Given the description of an element on the screen output the (x, y) to click on. 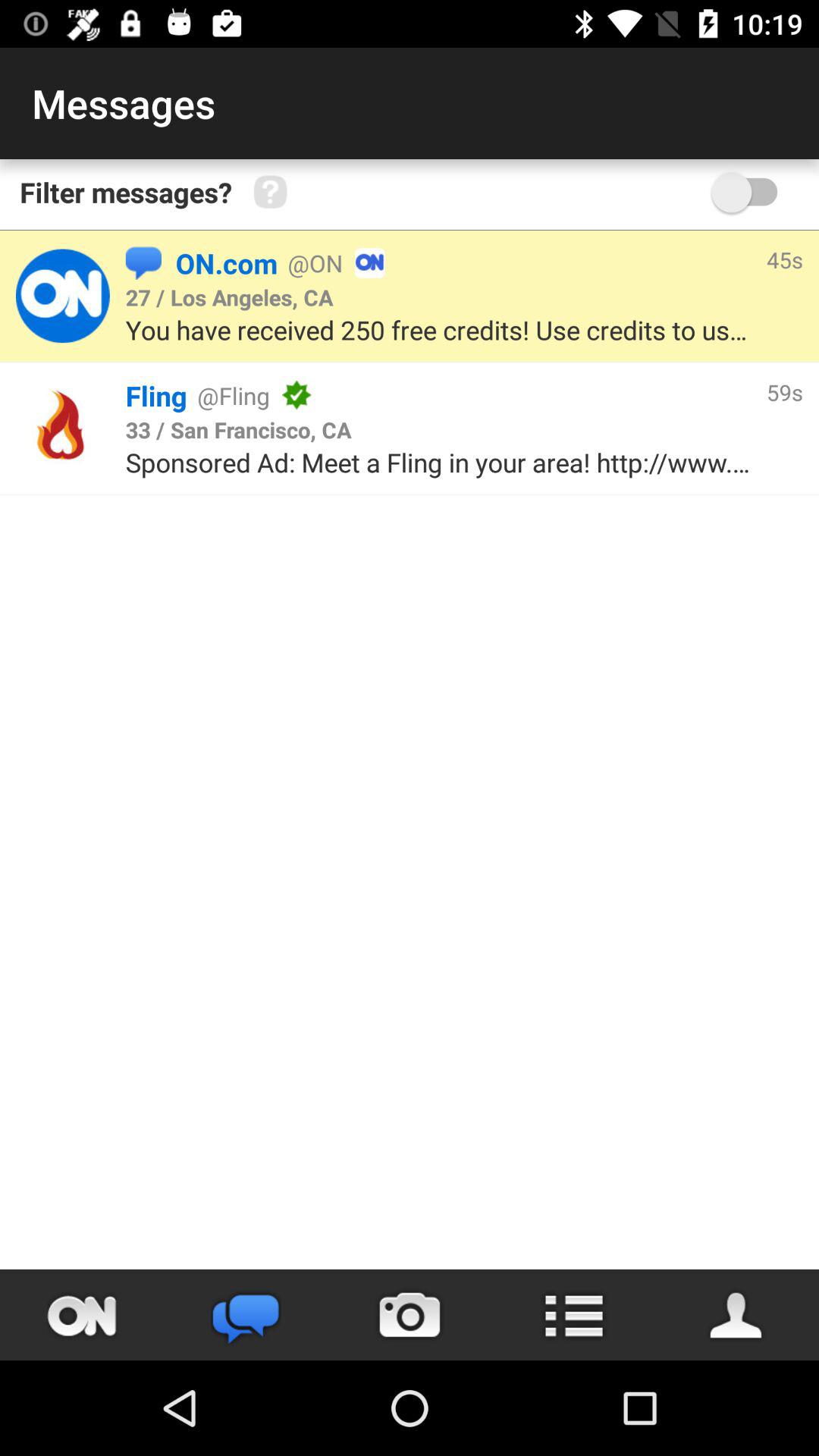
open the item to the left of 59s item (531, 395)
